Given the description of an element on the screen output the (x, y) to click on. 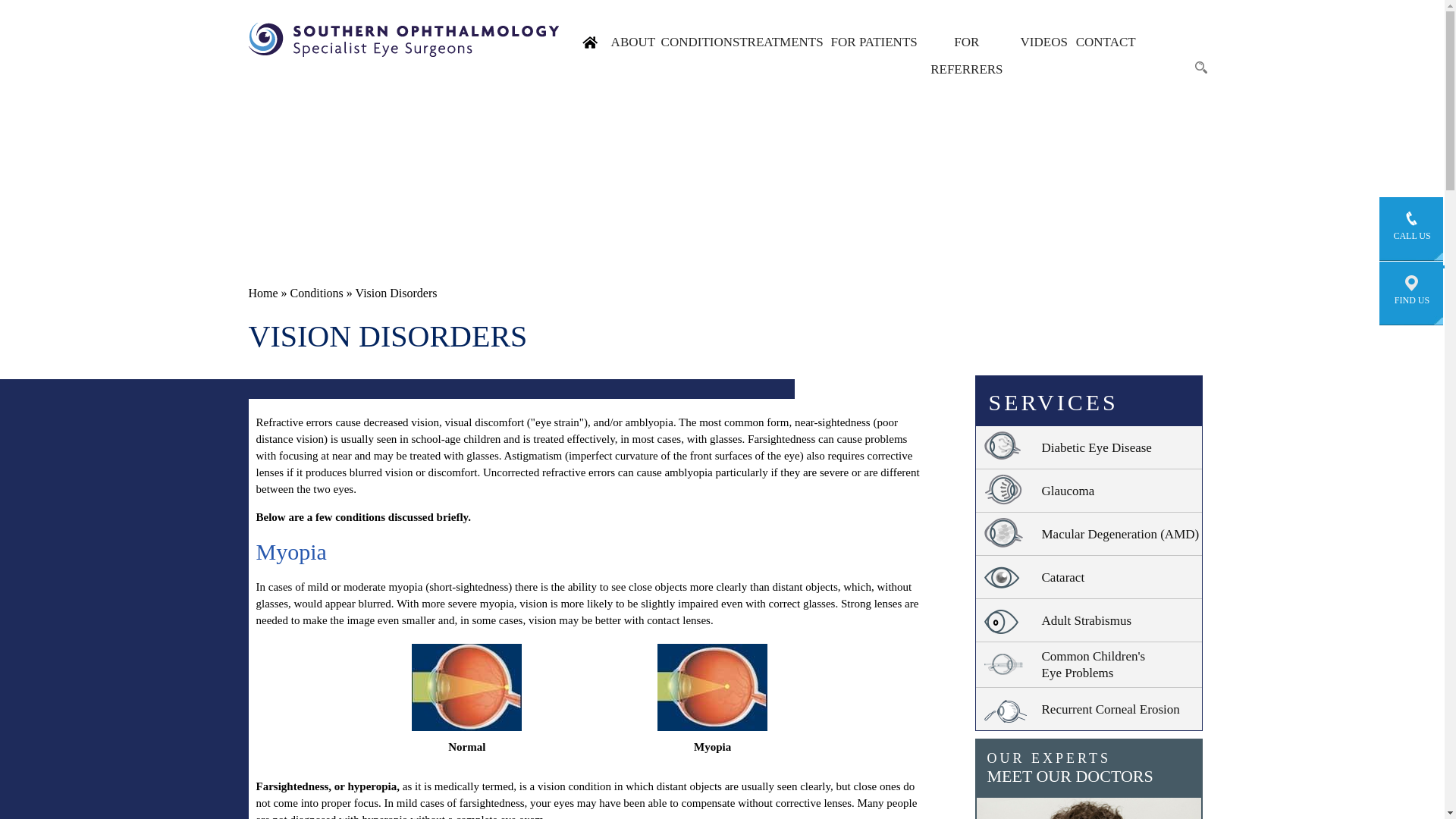
CONDITIONS (698, 42)
FOR REFERRERS (966, 55)
FOR PATIENTS (874, 42)
HOME (590, 42)
ABOUT (633, 42)
TREATMENTS (781, 42)
CONTACT (1104, 42)
VIDEOS (1043, 42)
